Given the description of an element on the screen output the (x, y) to click on. 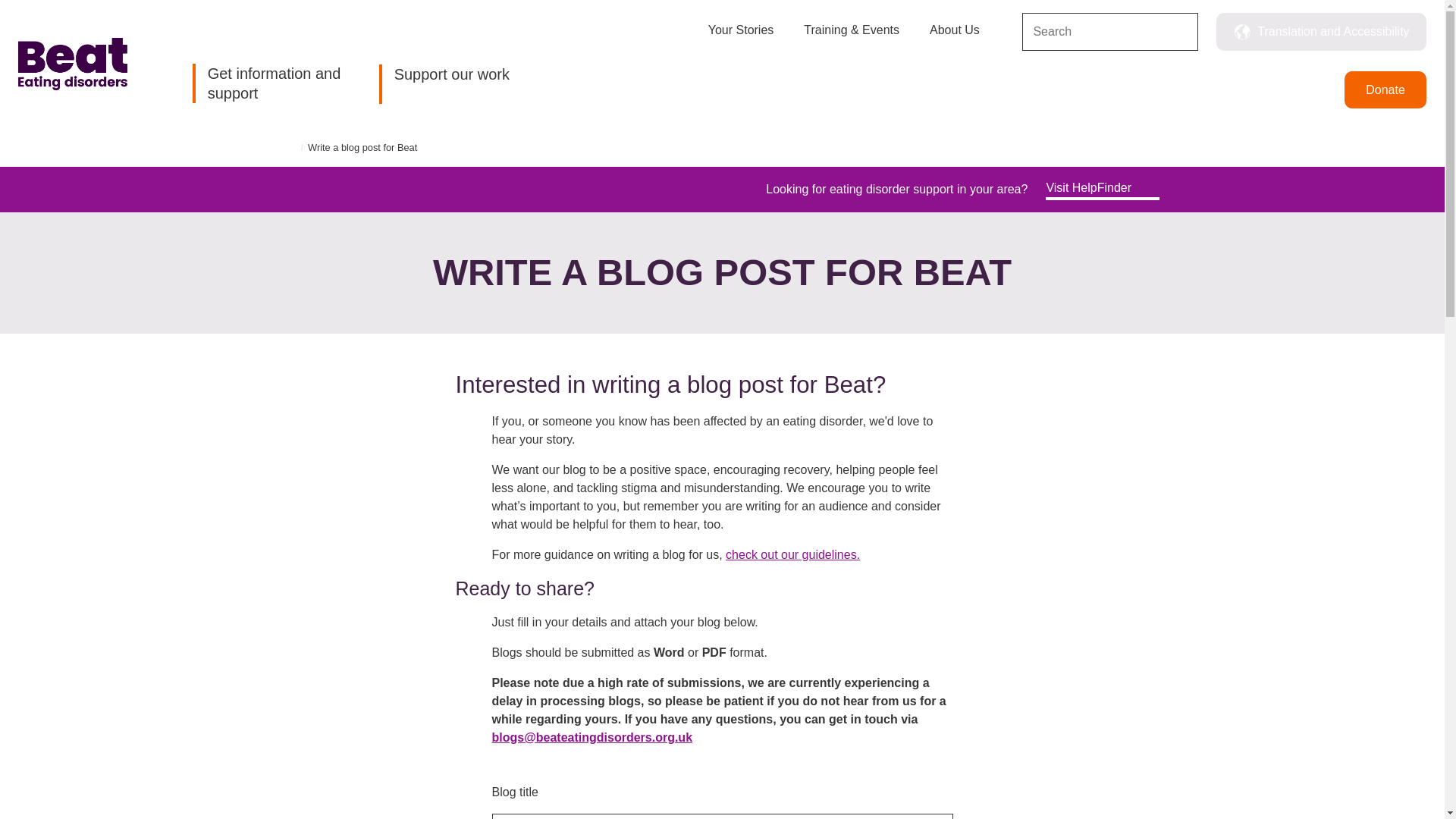
Translation and Accessibility (1320, 31)
About Us (954, 37)
Get information and support (271, 83)
Your Stories (740, 37)
Home (72, 63)
Search (1179, 33)
